Given the description of an element on the screen output the (x, y) to click on. 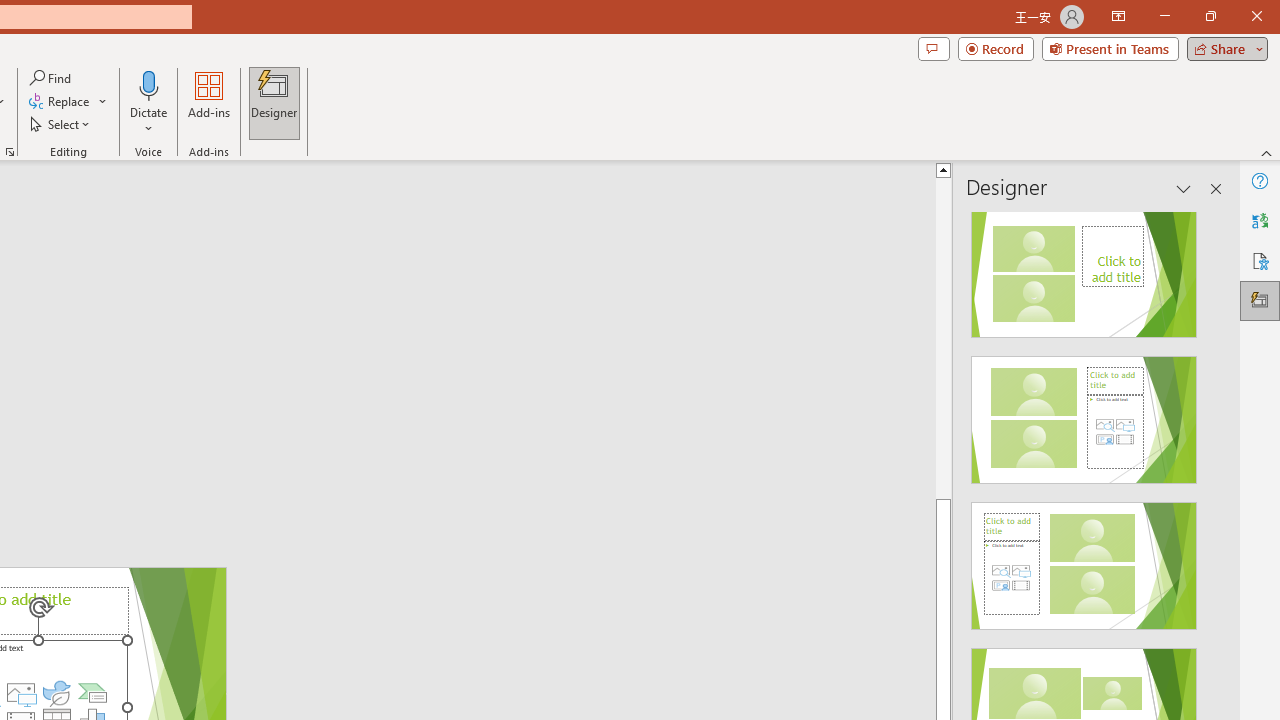
Insert a SmartArt Graphic (92, 692)
